Given the description of an element on the screen output the (x, y) to click on. 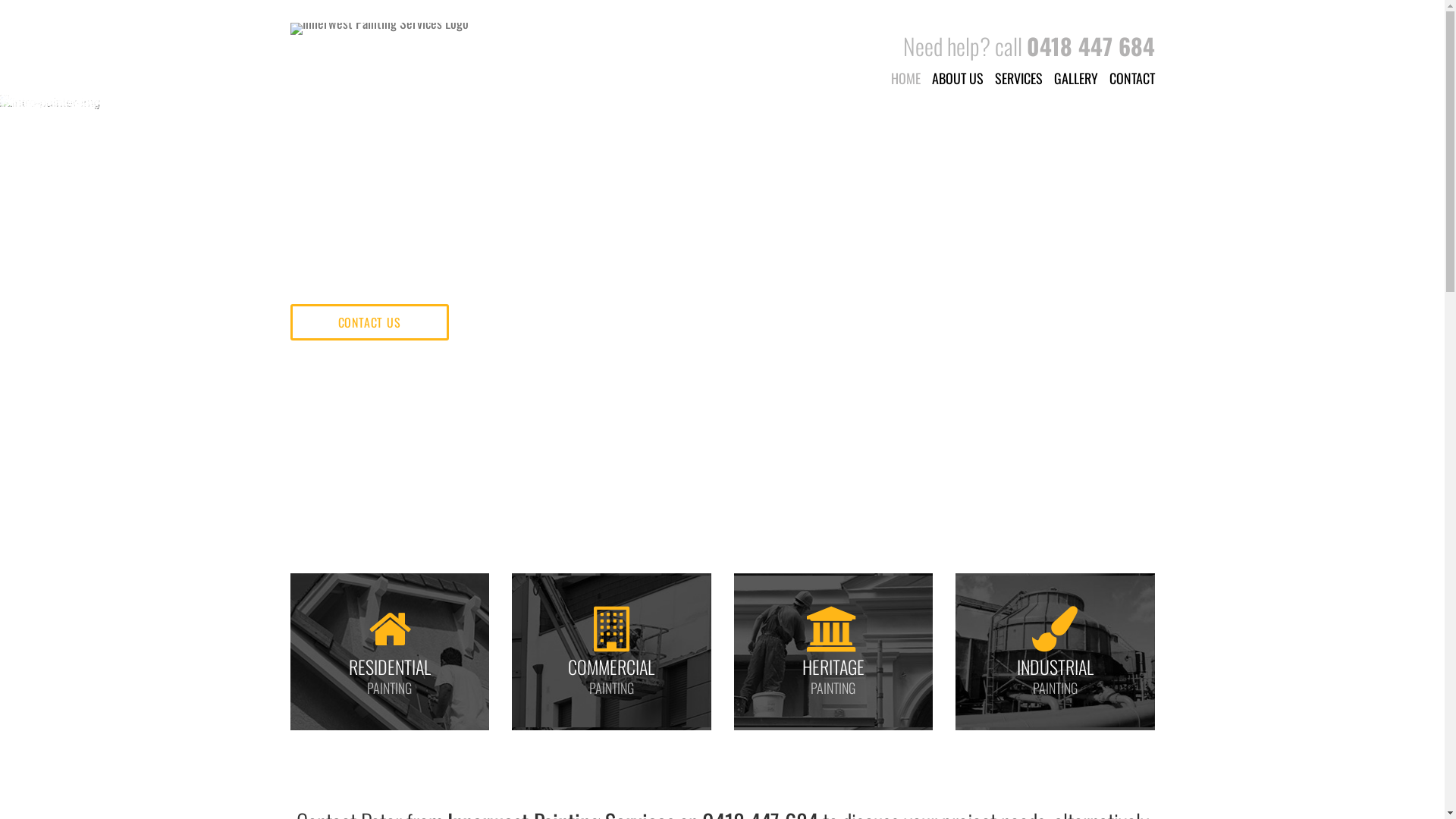
HOME Element type: text (910, 77)
ABOUT US Element type: text (962, 77)
CONTACT US Element type: text (368, 322)
GALLERY Element type: text (1081, 77)
SERVICES Element type: text (1024, 77)
CONTACT Element type: text (1136, 77)
